Given the description of an element on the screen output the (x, y) to click on. 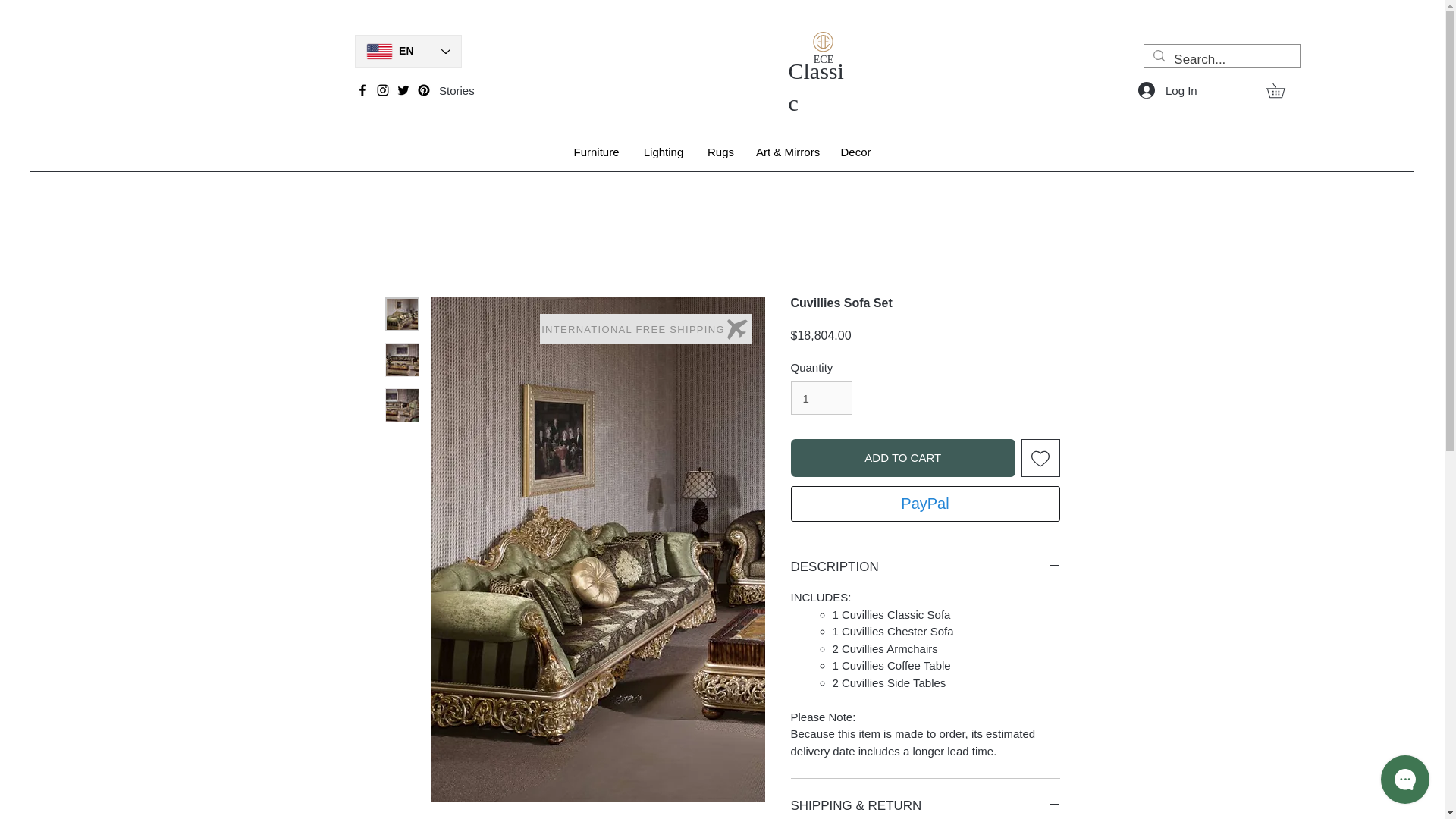
Stories (456, 90)
Rugs (719, 152)
Log In (1162, 89)
Furniture (596, 152)
Classic  (816, 86)
Lighting (662, 152)
Decor (855, 152)
ECE (822, 59)
1 (820, 397)
